Given the description of an element on the screen output the (x, y) to click on. 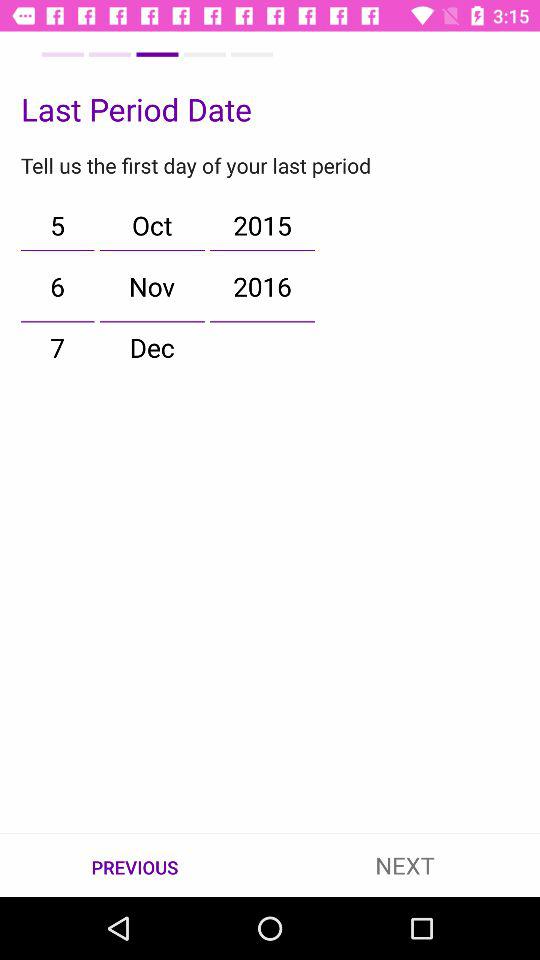
flip until previous item (135, 865)
